Given the description of an element on the screen output the (x, y) to click on. 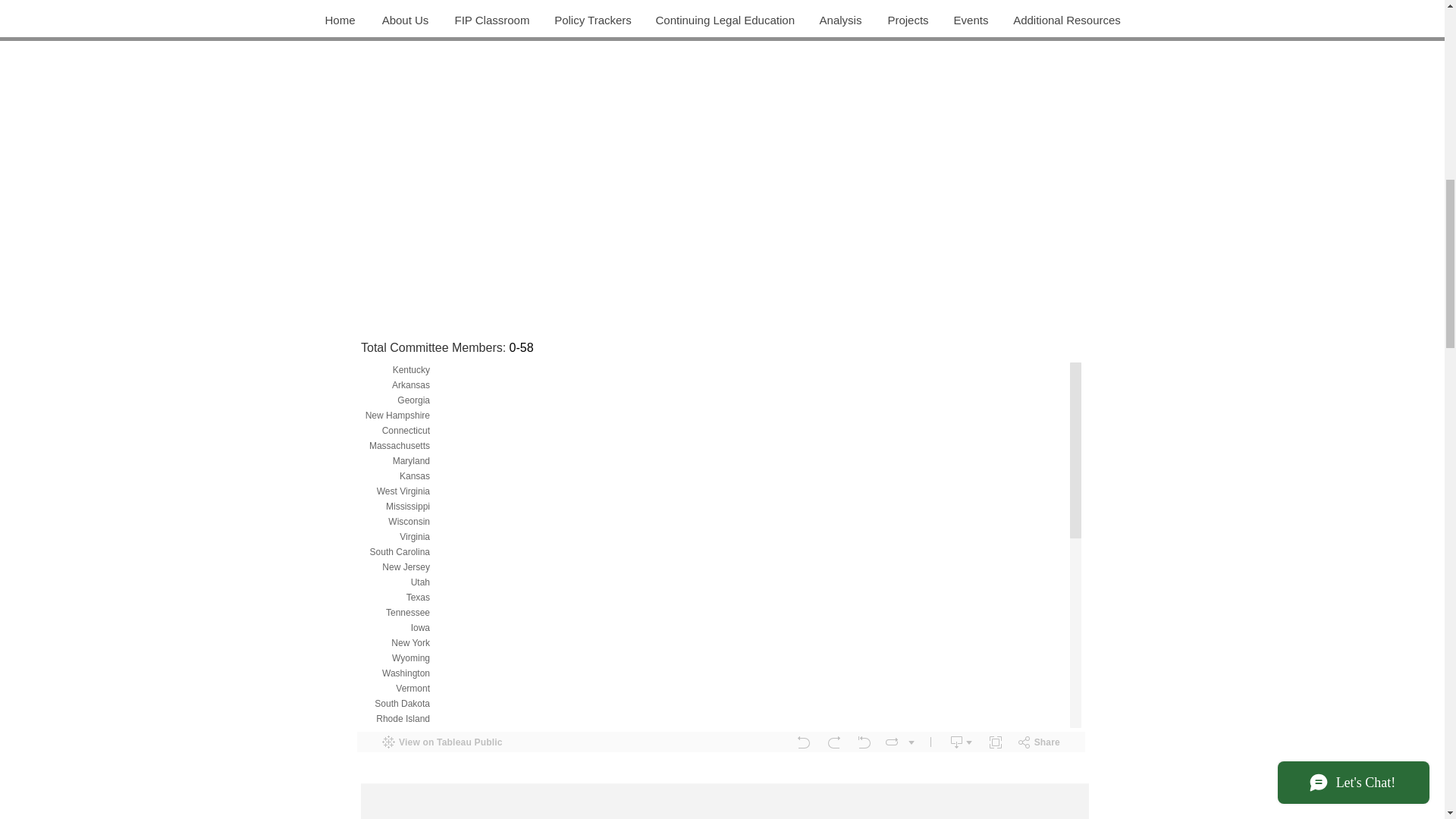
Embedded Content (724, 798)
